Given the description of an element on the screen output the (x, y) to click on. 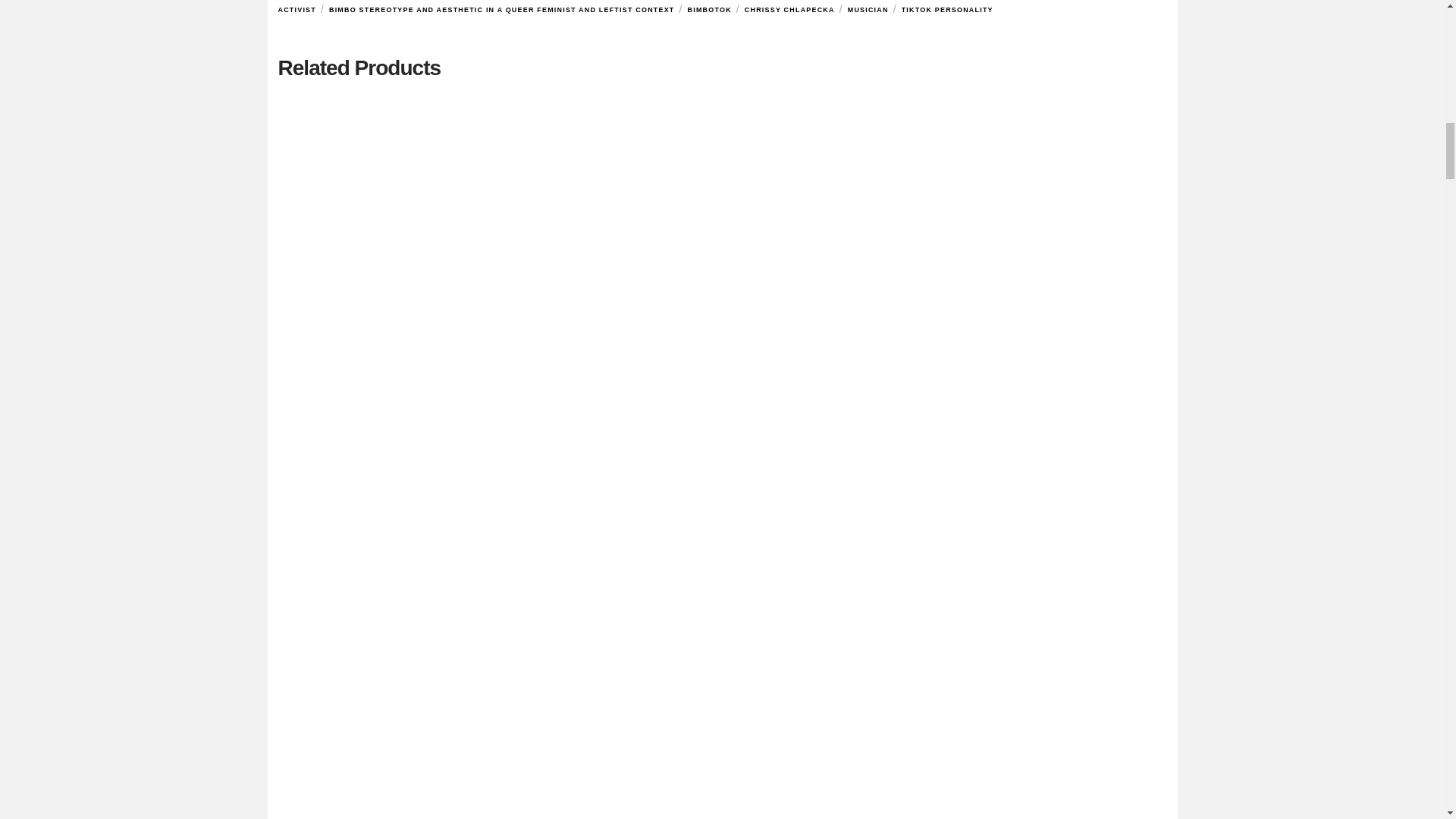
MUSICIAN (867, 9)
ACTIVIST (296, 9)
CHRISSY CHLAPECKA (789, 9)
TIKTOK PERSONALITY (946, 9)
BIMBOTOK (708, 9)
